Given the description of an element on the screen output the (x, y) to click on. 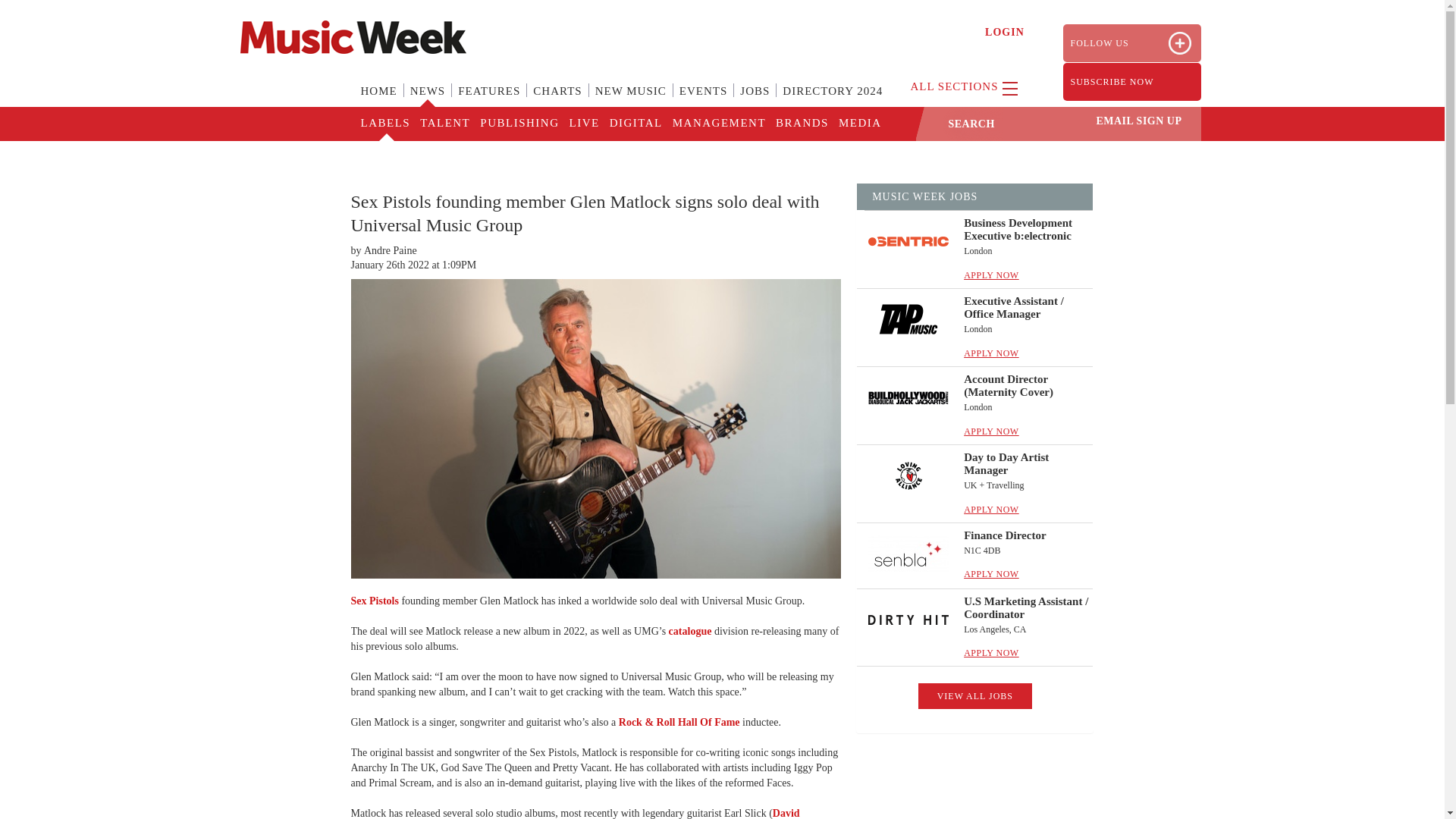
FEATURES (488, 100)
HOME (379, 100)
PUBLISHING (518, 123)
BRANDS (801, 123)
LABELS (384, 123)
CHARTS (557, 100)
NEW MUSIC (630, 100)
MEDIA (858, 123)
LIVE (582, 123)
TALENT (443, 123)
DIGITAL (635, 123)
MANAGEMENT (718, 123)
EVENTS (702, 100)
LOGIN (1005, 31)
NEWS (427, 100)
